Given the description of an element on the screen output the (x, y) to click on. 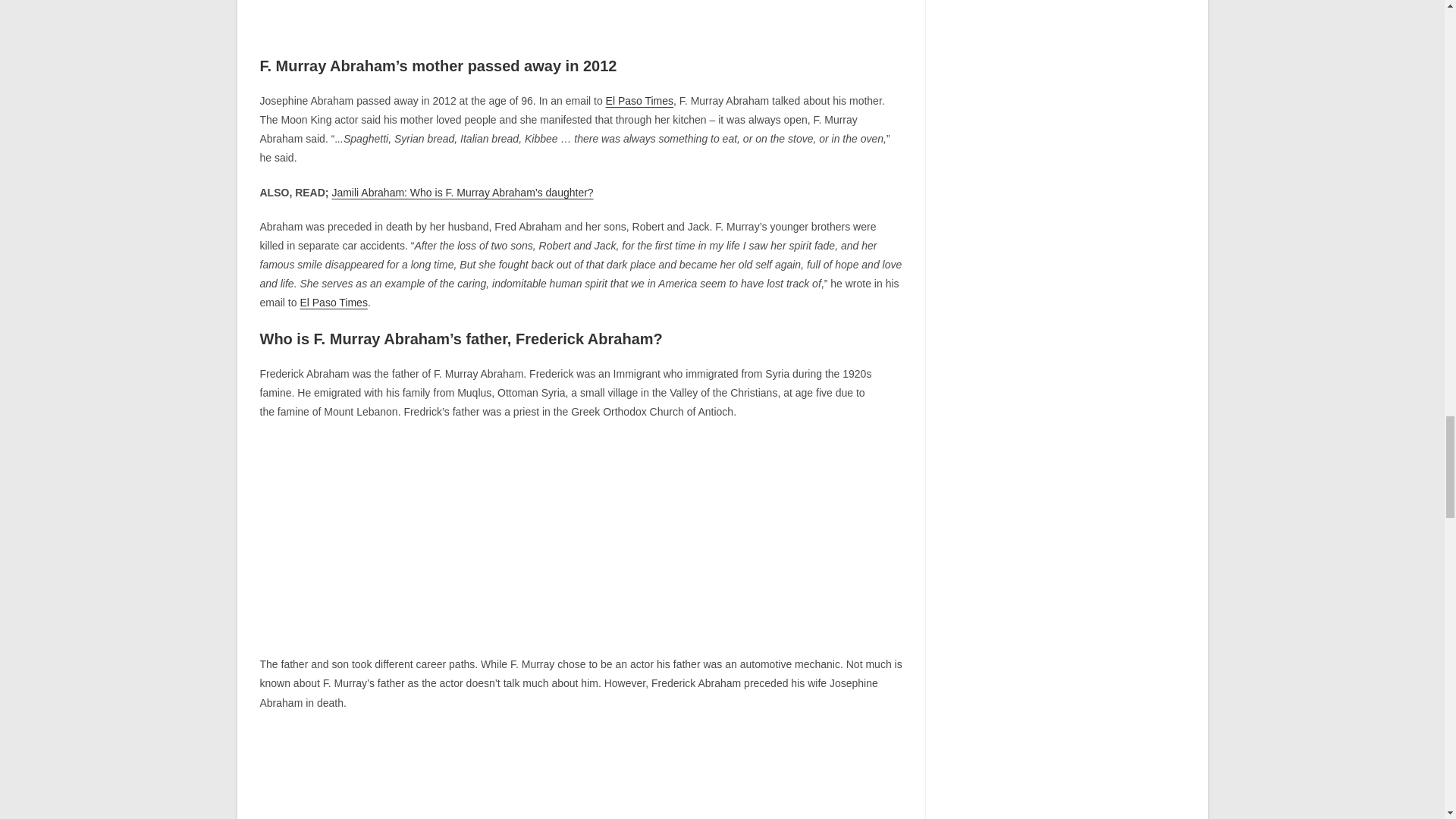
El Paso Times (332, 302)
El Paso Times (638, 101)
